Given the description of an element on the screen output the (x, y) to click on. 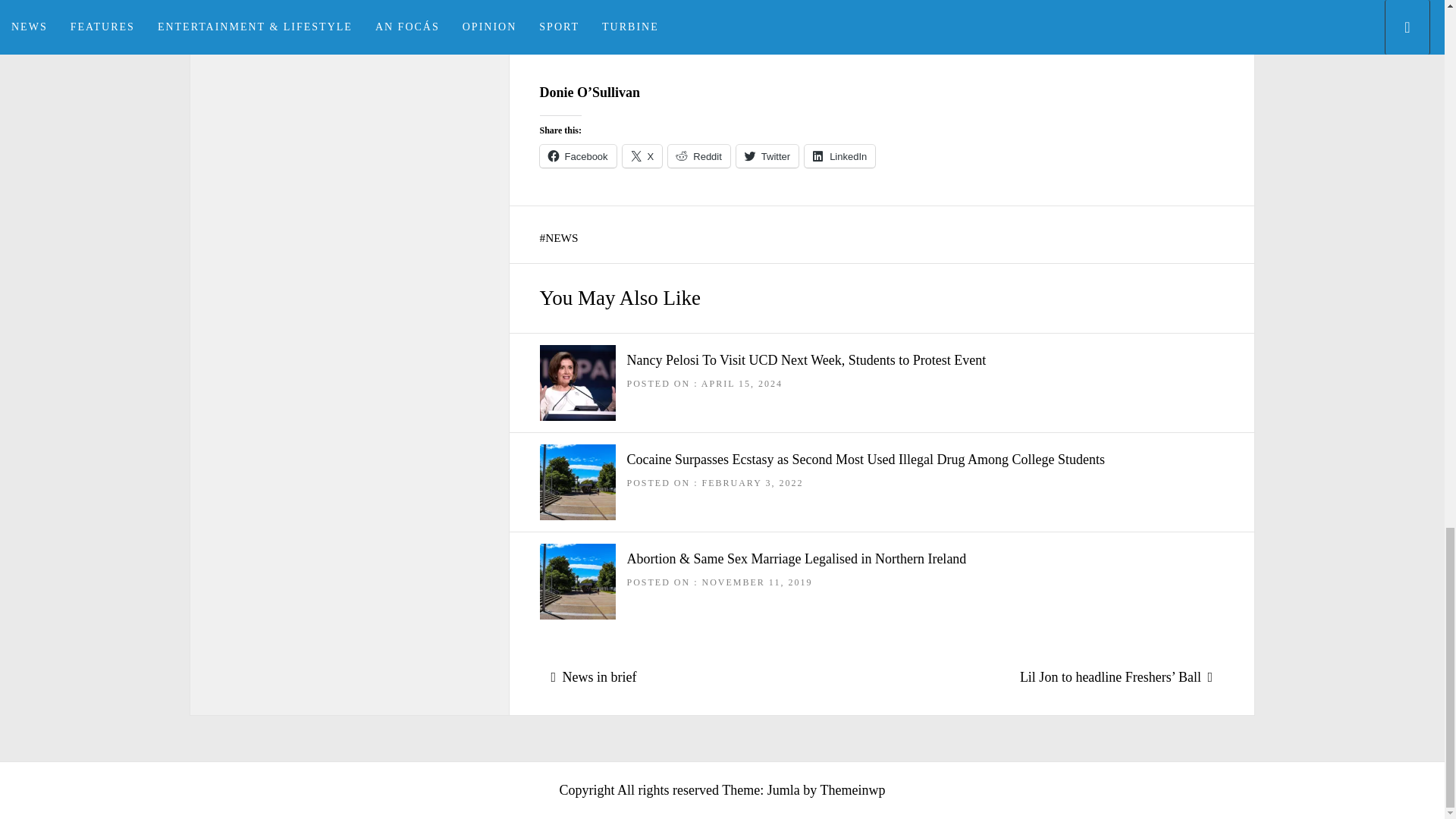
Twitter (766, 155)
Reddit (699, 155)
X (642, 155)
Click to share on LinkedIn (840, 155)
Click to share on Reddit (699, 155)
Click to share on Facebook (577, 155)
Click to share on Twitter (766, 155)
Facebook (577, 155)
Click to share on X (642, 155)
